Given the description of an element on the screen output the (x, y) to click on. 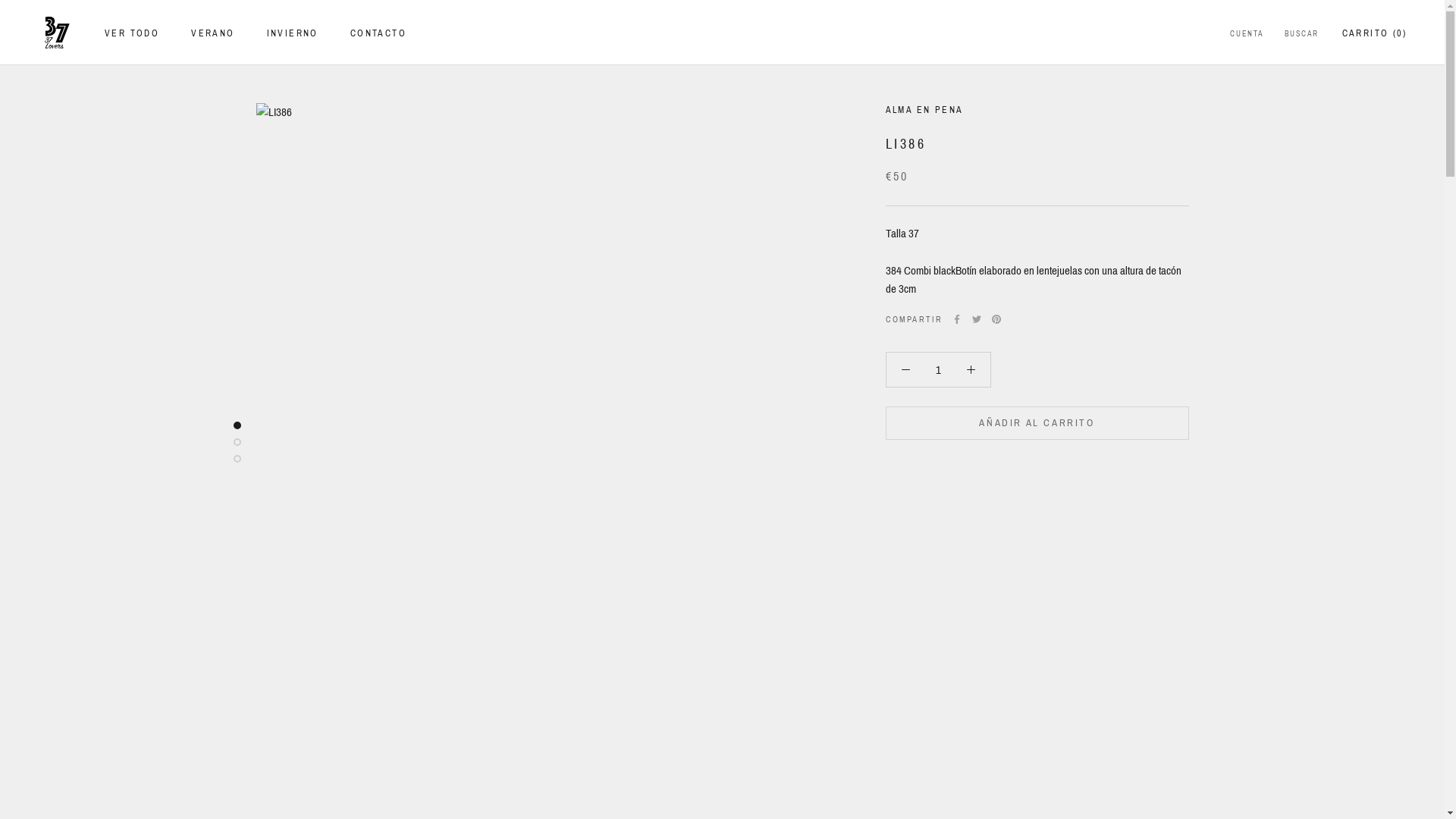
INVIERNO
INVIERNO Element type: text (292, 33)
VERANO Element type: text (212, 33)
CONTACTO
CONTACTO Element type: text (378, 33)
VER TODO
VER TODO Element type: text (131, 33)
CARRITO (0) Element type: text (1374, 33)
BUSCAR Element type: text (1301, 34)
CUENTA Element type: text (1246, 34)
